Given the description of an element on the screen output the (x, y) to click on. 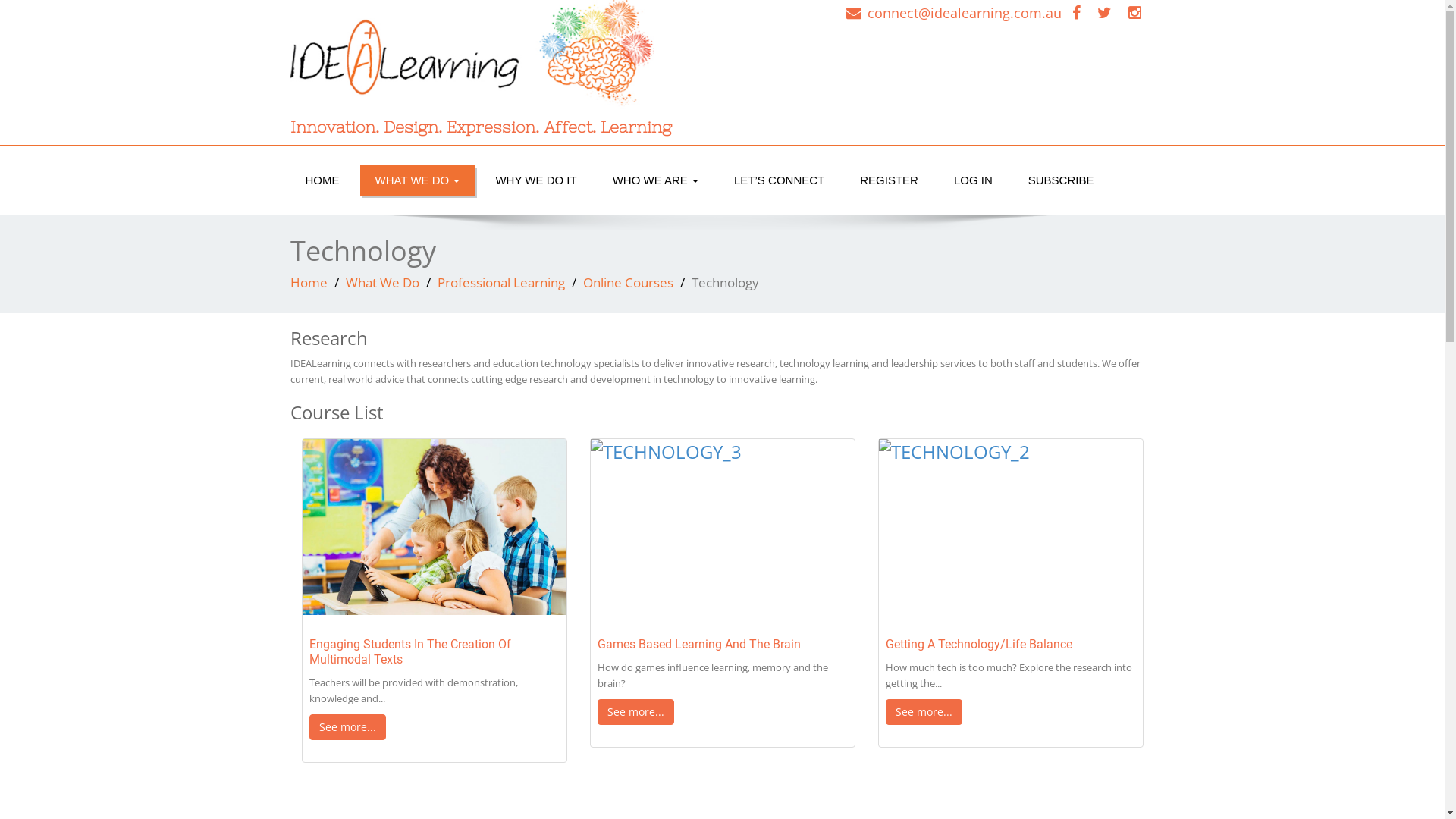
LOG IN Element type: text (972, 180)
Home Element type: text (307, 282)
SUBSCRIBE Element type: text (1061, 180)
connect@idealearning.com.au Element type: text (964, 12)
Instagram Element type: hover (1137, 12)
HOME Element type: text (321, 180)
WHAT WE DO Element type: text (416, 180)
IDEALearning Element type: hover (499, 56)
REGISTER Element type: text (888, 180)
Online Courses Element type: text (627, 282)
See more... Element type: text (635, 711)
Professional Learning Element type: text (500, 282)
Facebook Element type: hover (1079, 12)
See more... Element type: text (347, 727)
See more... Element type: text (923, 711)
Twiiter Element type: hover (1106, 12)
WHY WE DO IT Element type: text (535, 180)
WHO WE ARE Element type: text (655, 180)
What We Do Element type: text (382, 282)
